Given the description of an element on the screen output the (x, y) to click on. 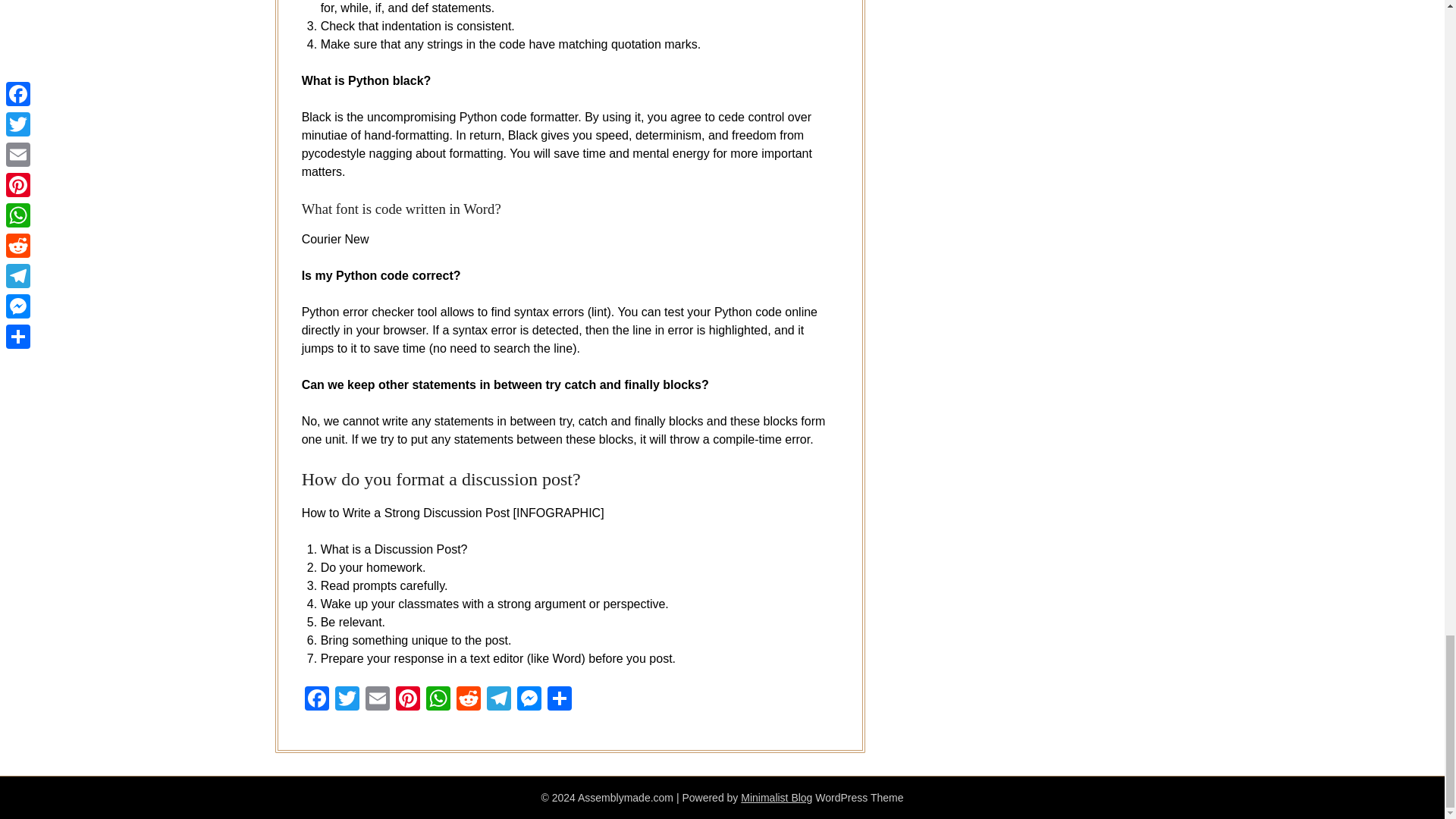
Reddit (467, 700)
Messenger (528, 700)
Facebook (316, 700)
Telegram (498, 700)
Telegram (498, 700)
WhatsApp (437, 700)
Messenger (528, 700)
Twitter (346, 700)
Facebook (316, 700)
Pinterest (408, 700)
Email (377, 700)
Pinterest (408, 700)
WhatsApp (437, 700)
Reddit (467, 700)
Twitter (346, 700)
